Given the description of an element on the screen output the (x, y) to click on. 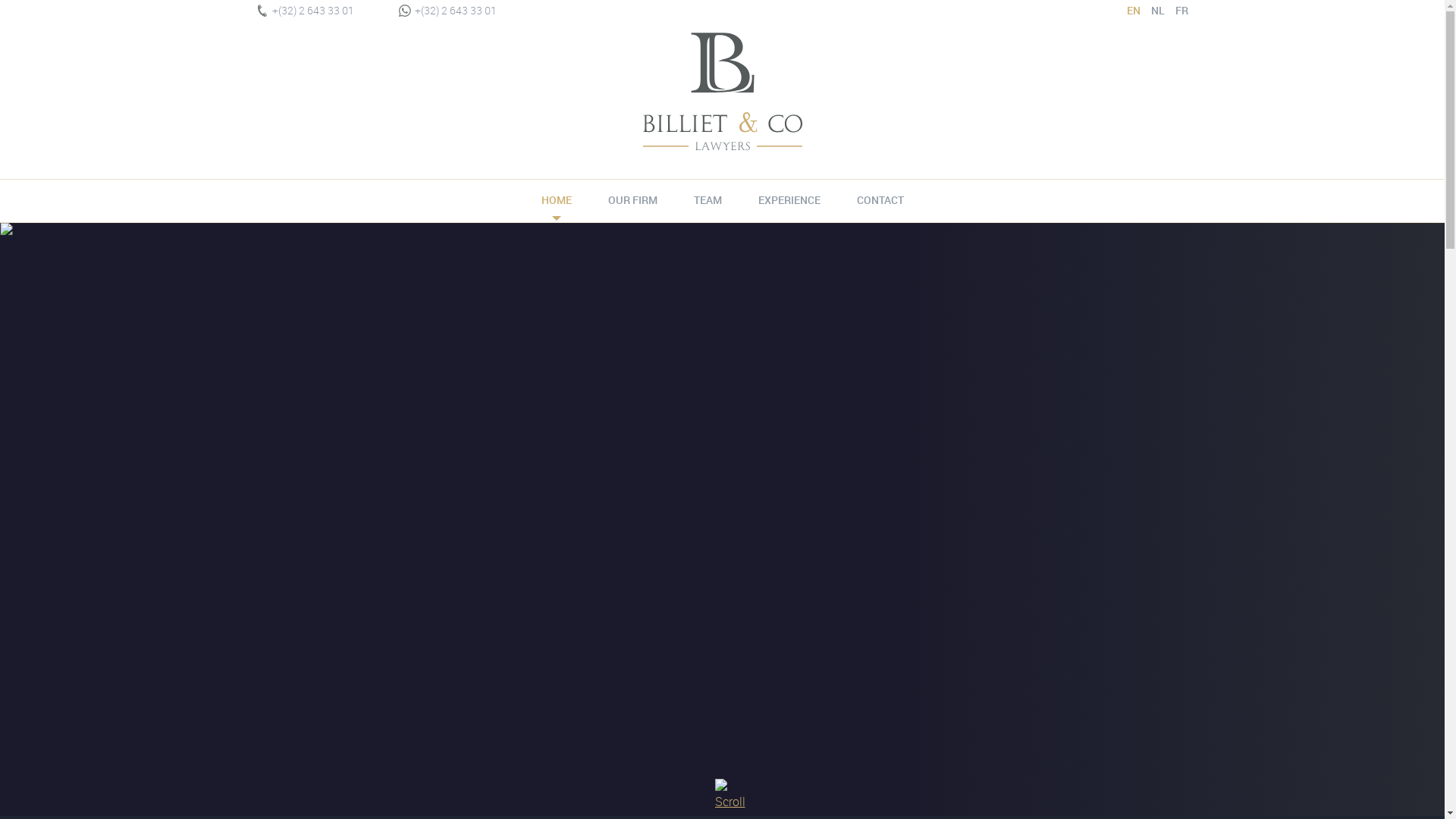
Billiet & Co Lawyers Element type: hover (721, 94)
+(32) 2 643 33 01 Element type: text (447, 10)
EXPERIENCE Element type: text (789, 199)
OUR FIRM Element type: text (632, 199)
CONTACT Element type: text (880, 199)
FR Element type: text (1176, 10)
NL Element type: text (1152, 10)
+(32) 2 643 33 01 Element type: text (305, 10)
TEAM Element type: text (706, 199)
EN Element type: text (1128, 10)
Scroll down Element type: hover (721, 791)
HOME Element type: text (556, 199)
